Given the description of an element on the screen output the (x, y) to click on. 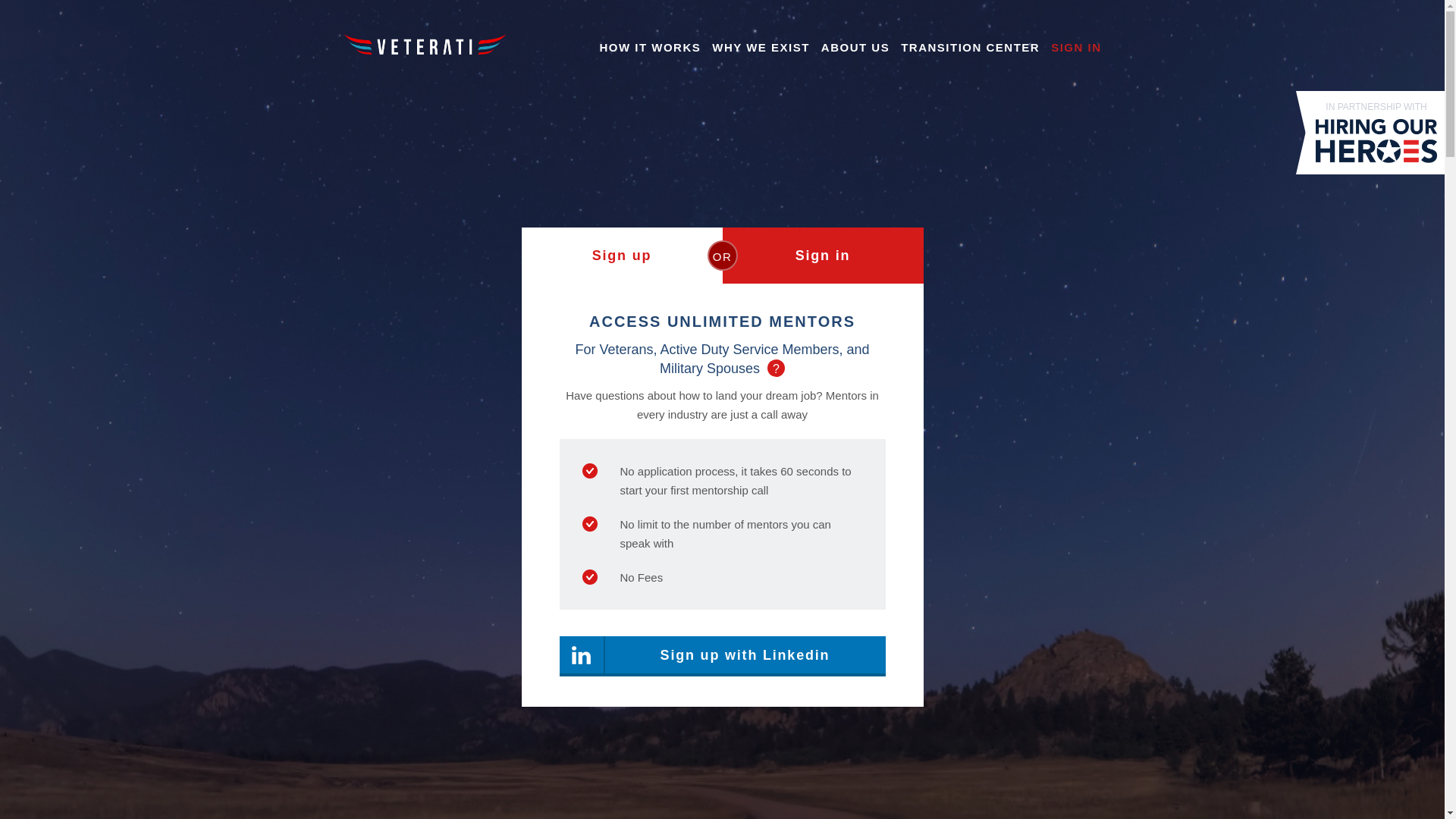
Sign in (822, 255)
WHY WE EXIST (760, 47)
ABOUT US (855, 47)
SIGN IN (1075, 47)
Sign up (621, 255)
HOW IT WORKS (649, 47)
TRANSITION CENTER (970, 47)
